Given the description of an element on the screen output the (x, y) to click on. 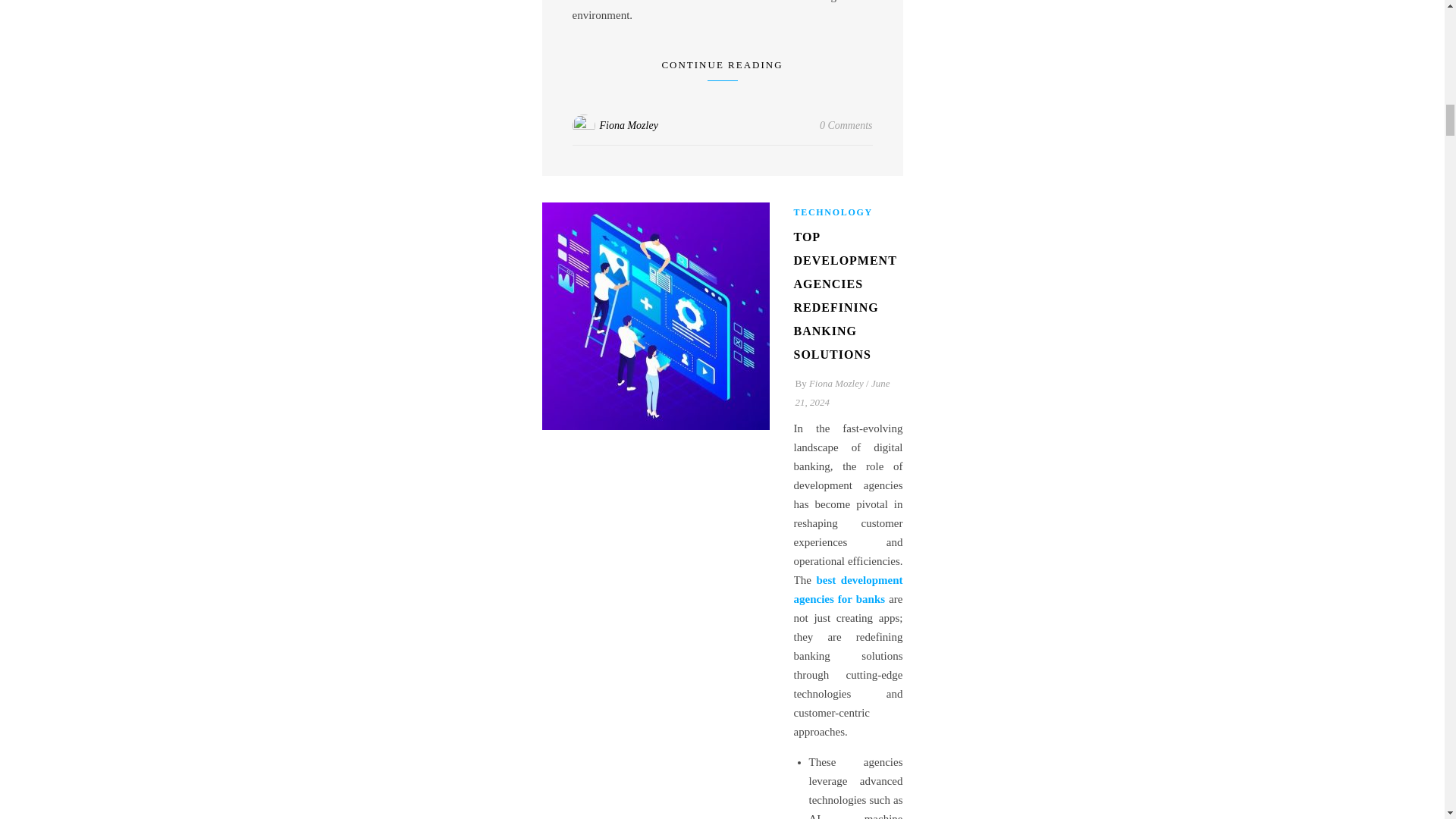
Posts by Fiona Mozley (628, 125)
Posts by Fiona Mozley (836, 383)
